Given the description of an element on the screen output the (x, y) to click on. 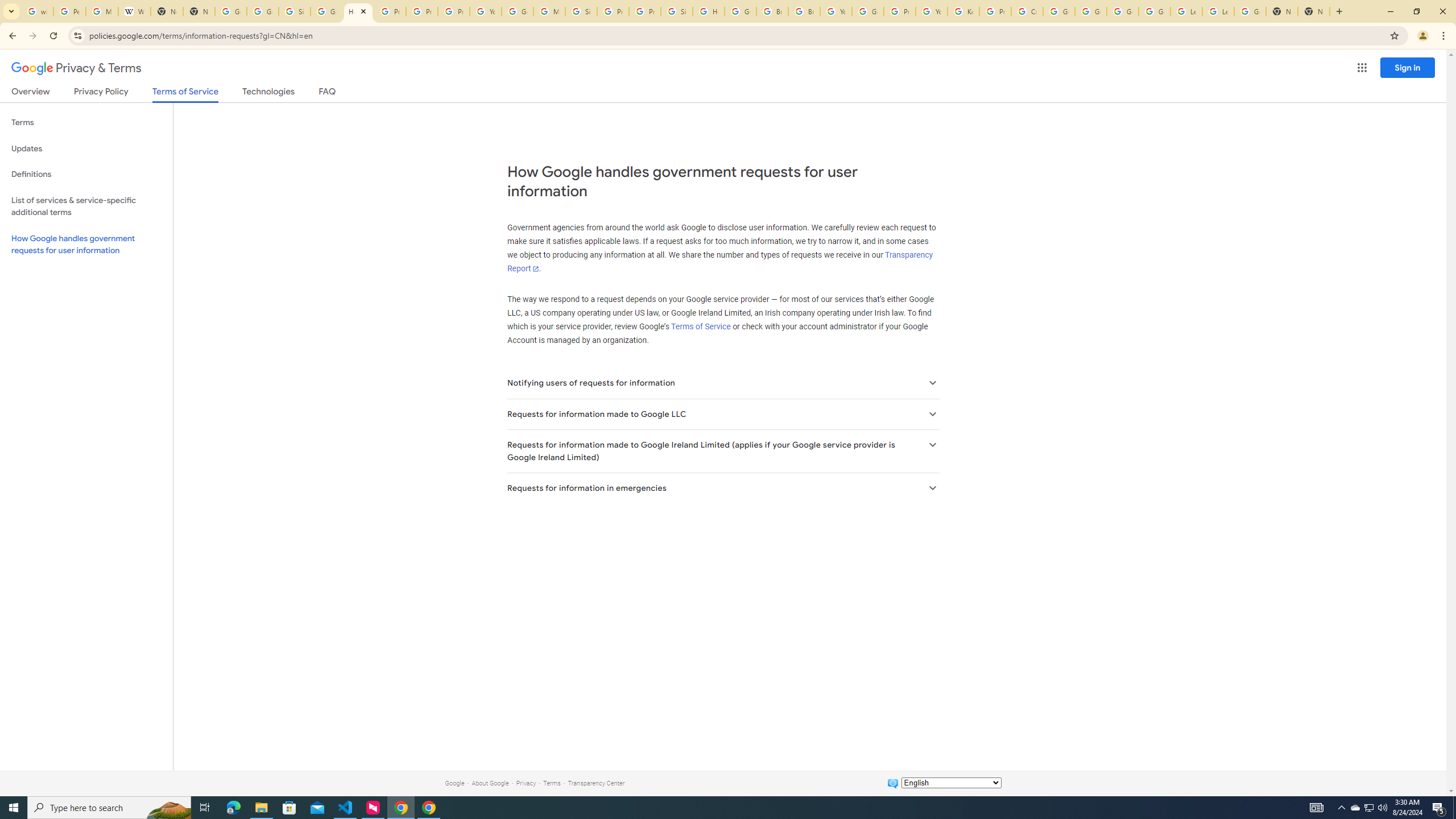
Manage your Location History - Google Search Help (101, 11)
Sign in - Google Accounts (581, 11)
Transparency Center (595, 783)
Create your Google Account (1027, 11)
Google Account Help (517, 11)
Google Account Help (868, 11)
